Given the description of an element on the screen output the (x, y) to click on. 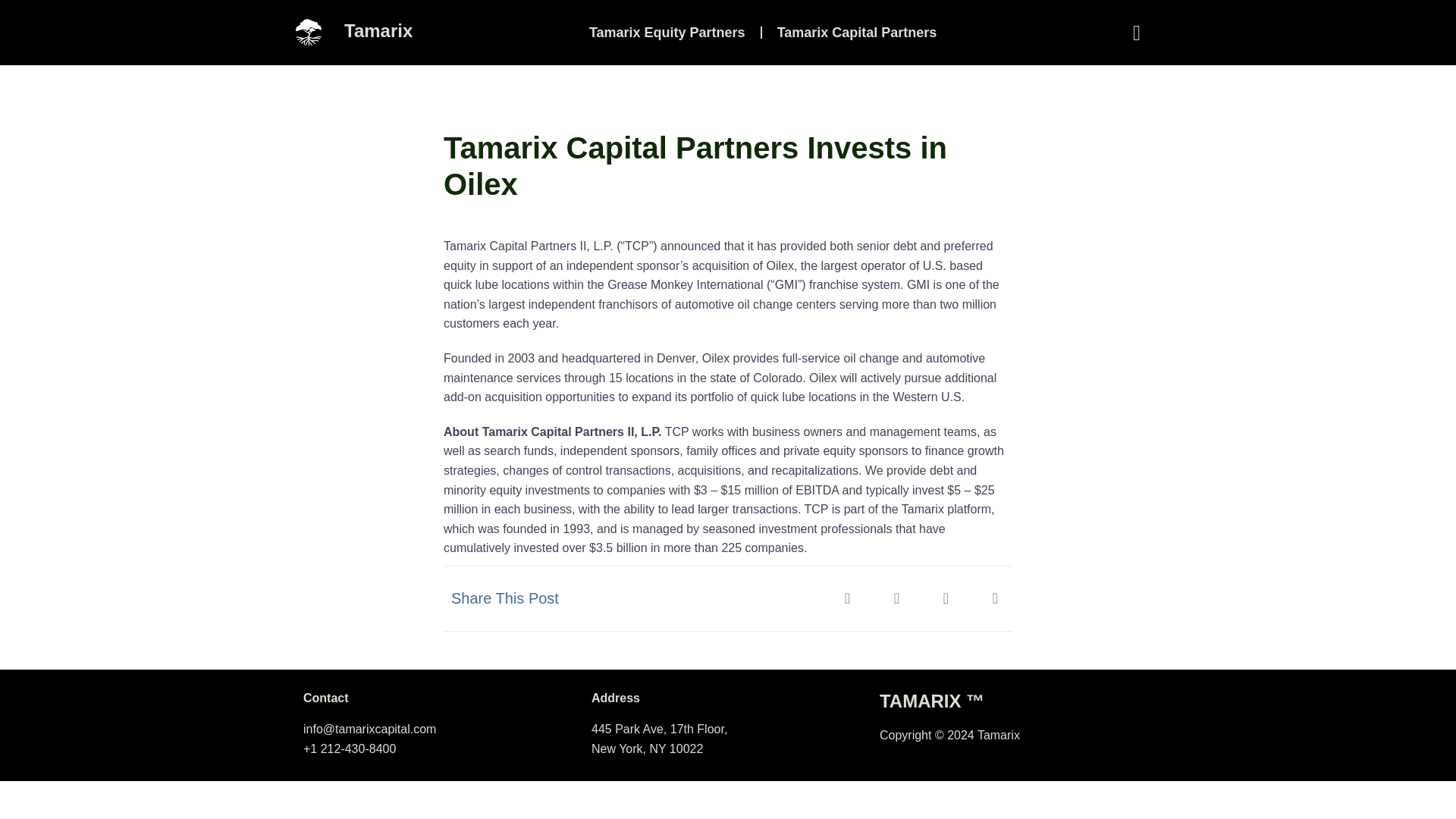
Tamarix Capital Partners (856, 32)
1 212-430-8400 (353, 748)
Tamarix Equity Partners (666, 32)
Tamarix (377, 30)
